Given the description of an element on the screen output the (x, y) to click on. 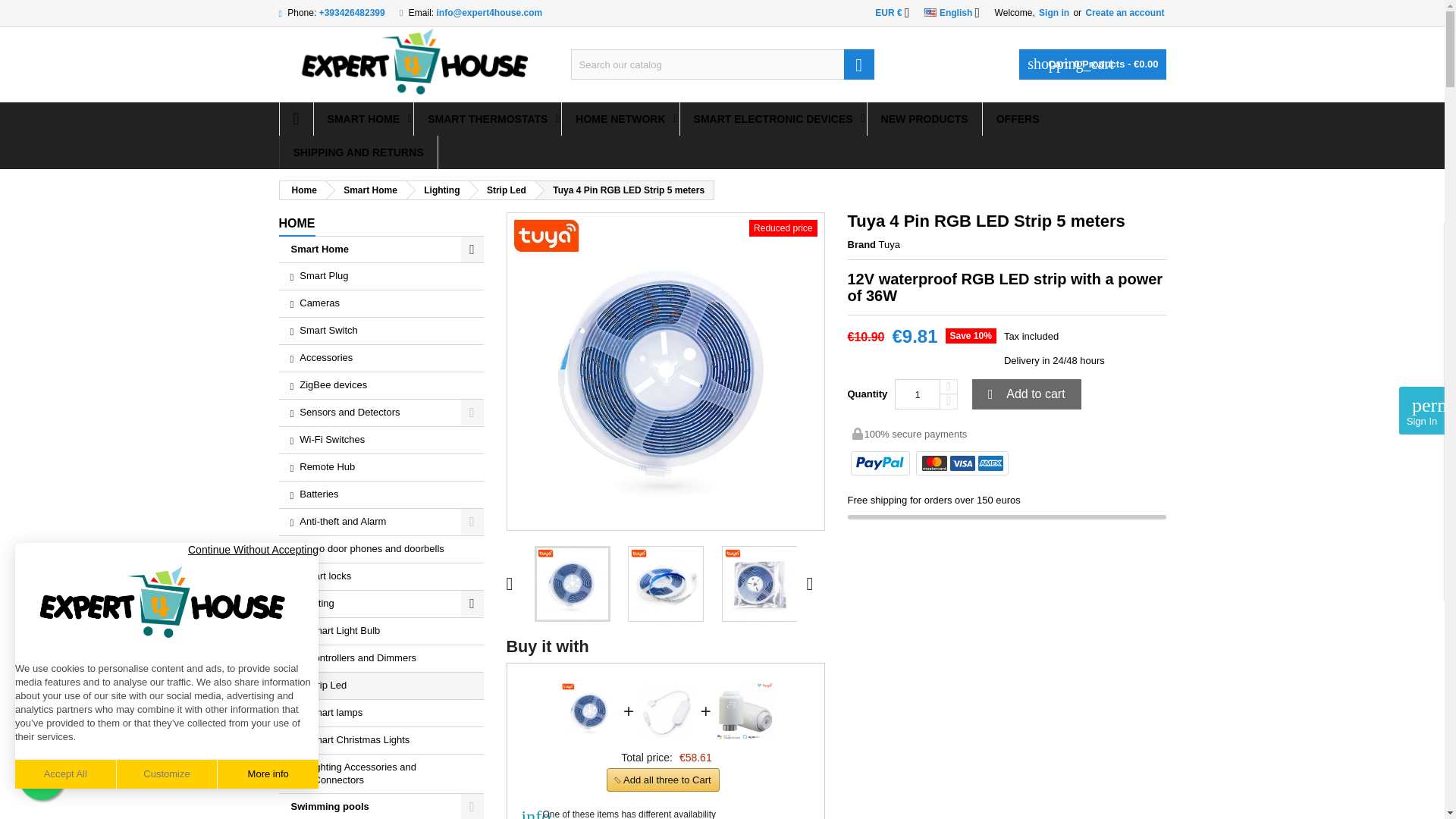
Sign in (1053, 12)
SMART HOME (363, 118)
Create an account (1124, 12)
Categories (297, 224)
Log in to your customer account (1053, 12)
1 (917, 394)
Log in to your customer account (1124, 12)
